Given the description of an element on the screen output the (x, y) to click on. 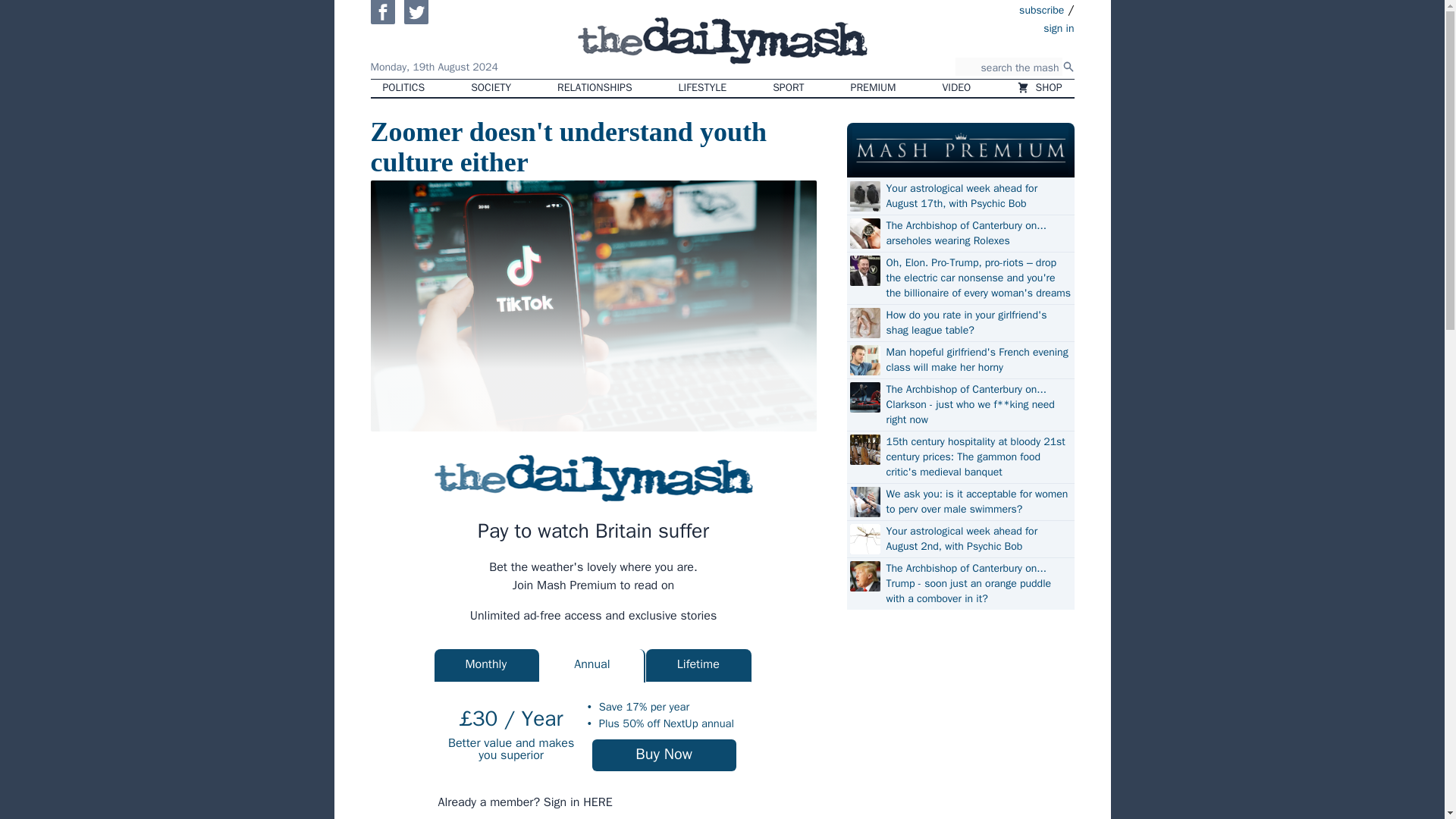
How do you rate in your girlfriend's shag league table? (977, 322)
POLITICS (402, 88)
SPORT (787, 88)
VIDEO (957, 88)
RELATIONSHIPS (593, 88)
PREMIUM (873, 88)
Buy Now (664, 755)
The Archbishop of Canterbury on... arseholes wearing Rolexes (977, 233)
